Given the description of an element on the screen output the (x, y) to click on. 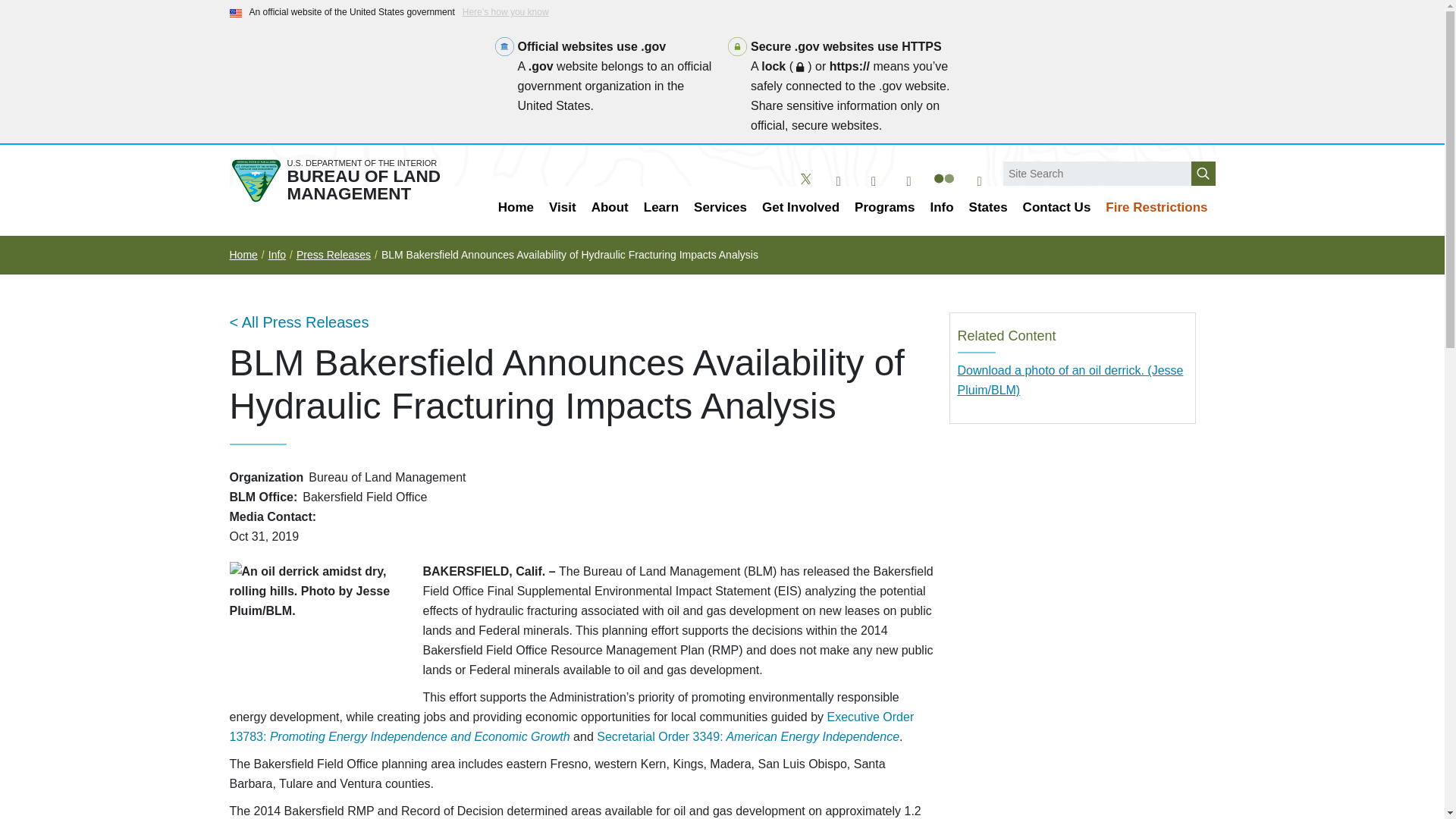
Learn (660, 207)
About (609, 207)
Bureau of Land Management Home Page (347, 180)
Submit (1202, 173)
Submit (1202, 173)
Visit (562, 207)
Home (515, 207)
